Given the description of an element on the screen output the (x, y) to click on. 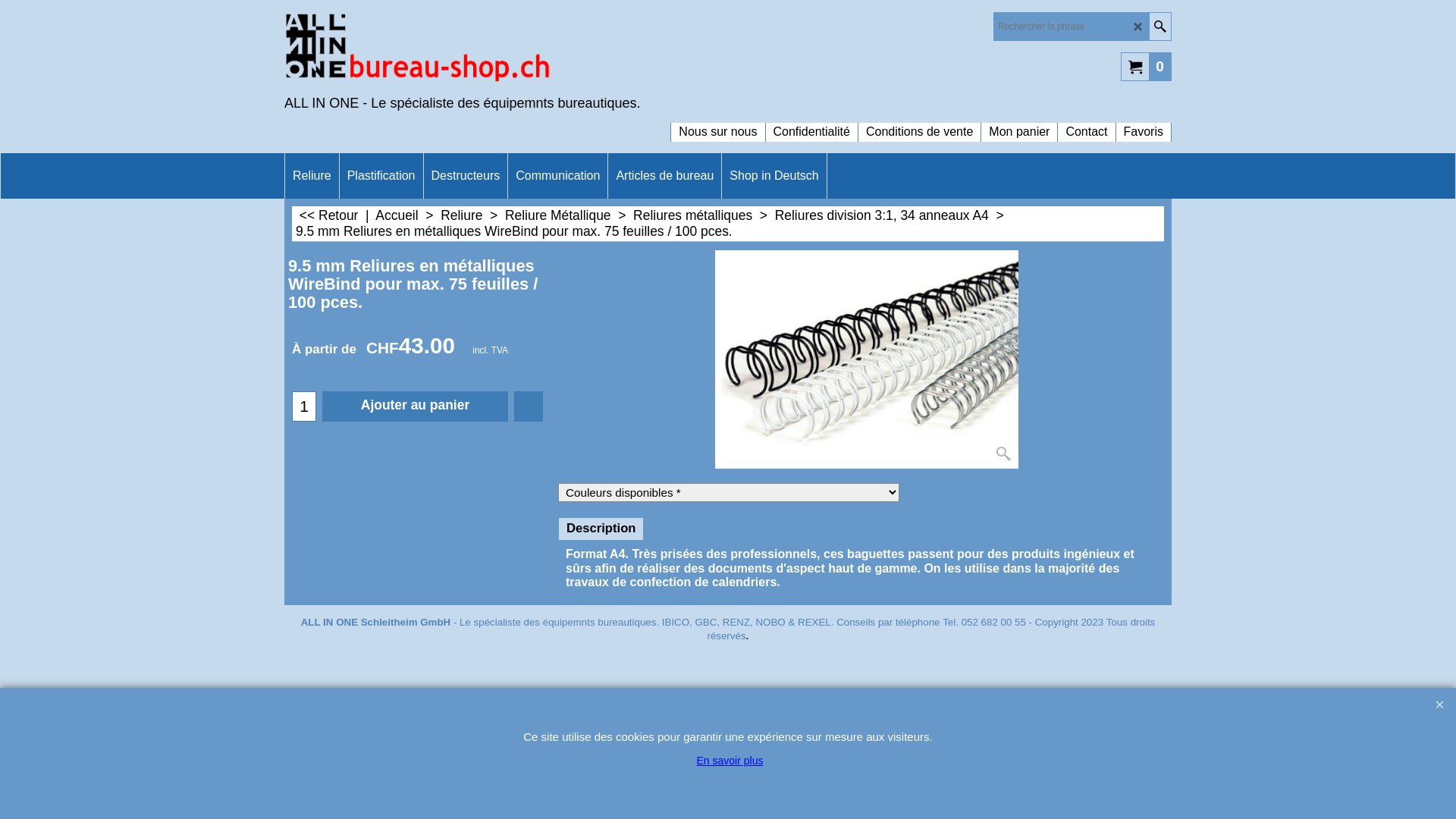
Favoris Element type: text (1143, 124)
Shop in Deutsch Element type: text (773, 175)
LD_CANCEL Element type: hover (1137, 26)
0 Element type: text (1145, 65)
 << Retour  Element type: text (328, 214)
WiroBind Element type: hover (865, 359)
Accueil  >  Element type: text (407, 214)
1 Element type: text (303, 405)
Plastification Element type: text (381, 175)
Description Element type: text (600, 527)
Reliures division 3:1, 34 anneaux A4  >  Element type: text (891, 214)
Conditions de vente Element type: text (919, 124)
Mon panier Element type: text (1019, 124)
Reliure  >  Element type: text (472, 214)
Contact Element type: text (1085, 124)
Nous sur nous Element type: text (717, 124)
Destructeurs Element type: text (465, 175)
Reliure Element type: text (311, 175)
Recherche Element type: hover (1159, 26)
Favoris Element type: hover (528, 405)
En savoir plus Element type: text (729, 760)
ALL IN ONE Element type: hover (416, 49)
Communication Element type: text (557, 175)
Articles de bureau Element type: text (664, 175)
Ajouter au panier Element type: text (415, 405)
